Given the description of an element on the screen output the (x, y) to click on. 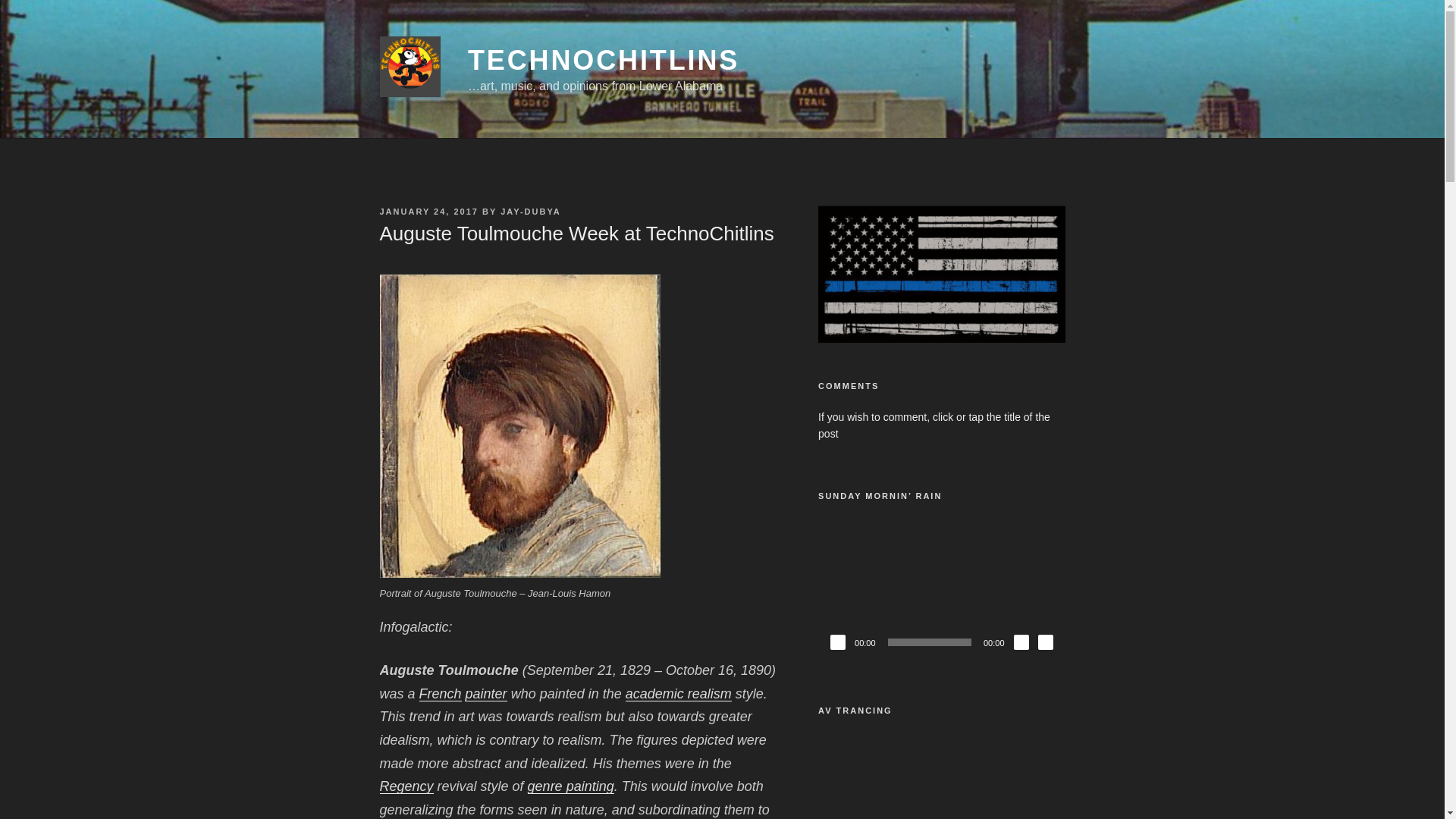
genre painting (570, 785)
Painting (485, 693)
JANUARY 24, 2017 (427, 211)
Academic realism (679, 693)
Play (837, 642)
painter (485, 693)
Regency (405, 785)
French (440, 693)
TECHNOCHITLINS (603, 60)
academic realism (679, 693)
France (440, 693)
Mute (1020, 642)
Genre painting (570, 785)
JAY-DUBYA (530, 211)
Fullscreen (1044, 642)
